Given the description of an element on the screen output the (x, y) to click on. 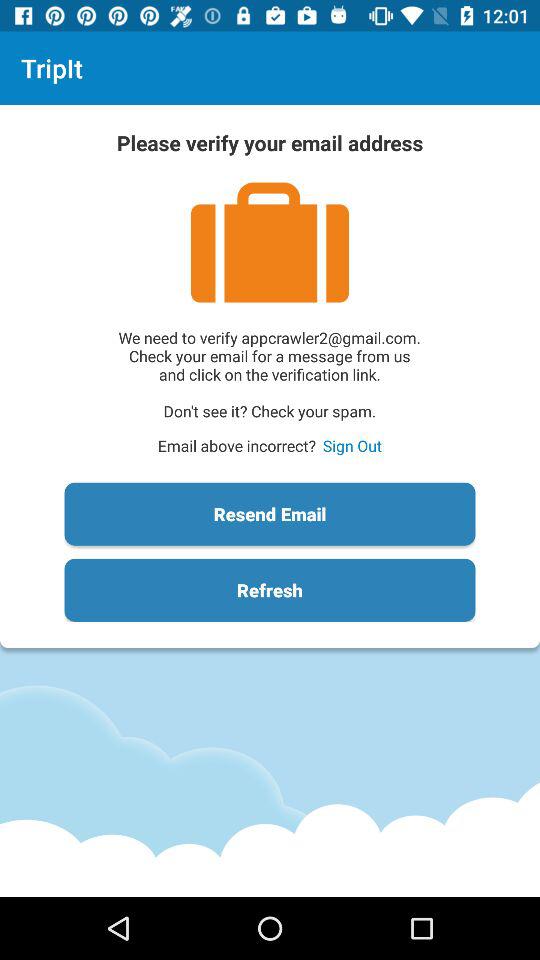
turn off item below resend email icon (269, 589)
